Given the description of an element on the screen output the (x, y) to click on. 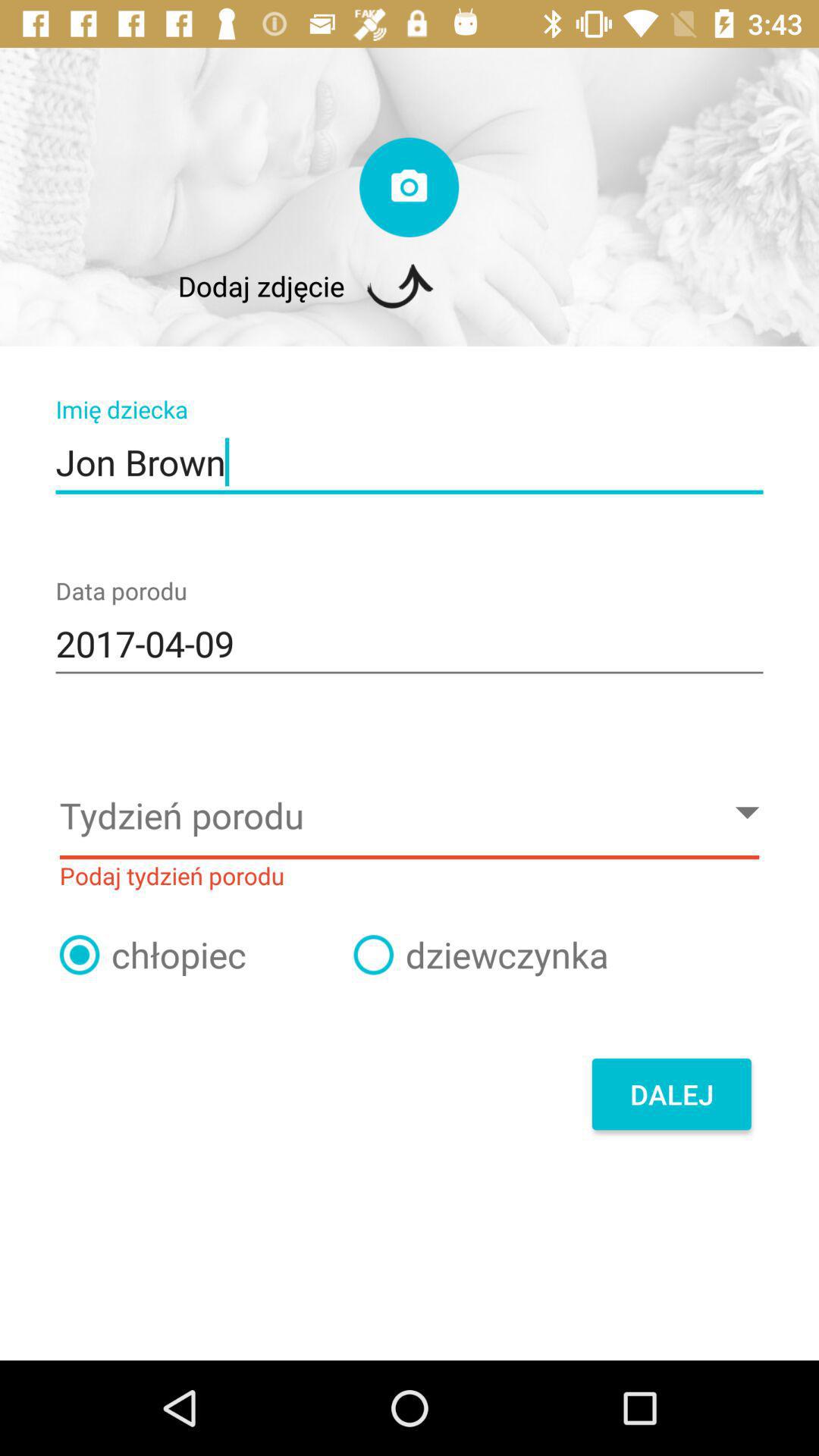
click on option (373, 954)
